Given the description of an element on the screen output the (x, y) to click on. 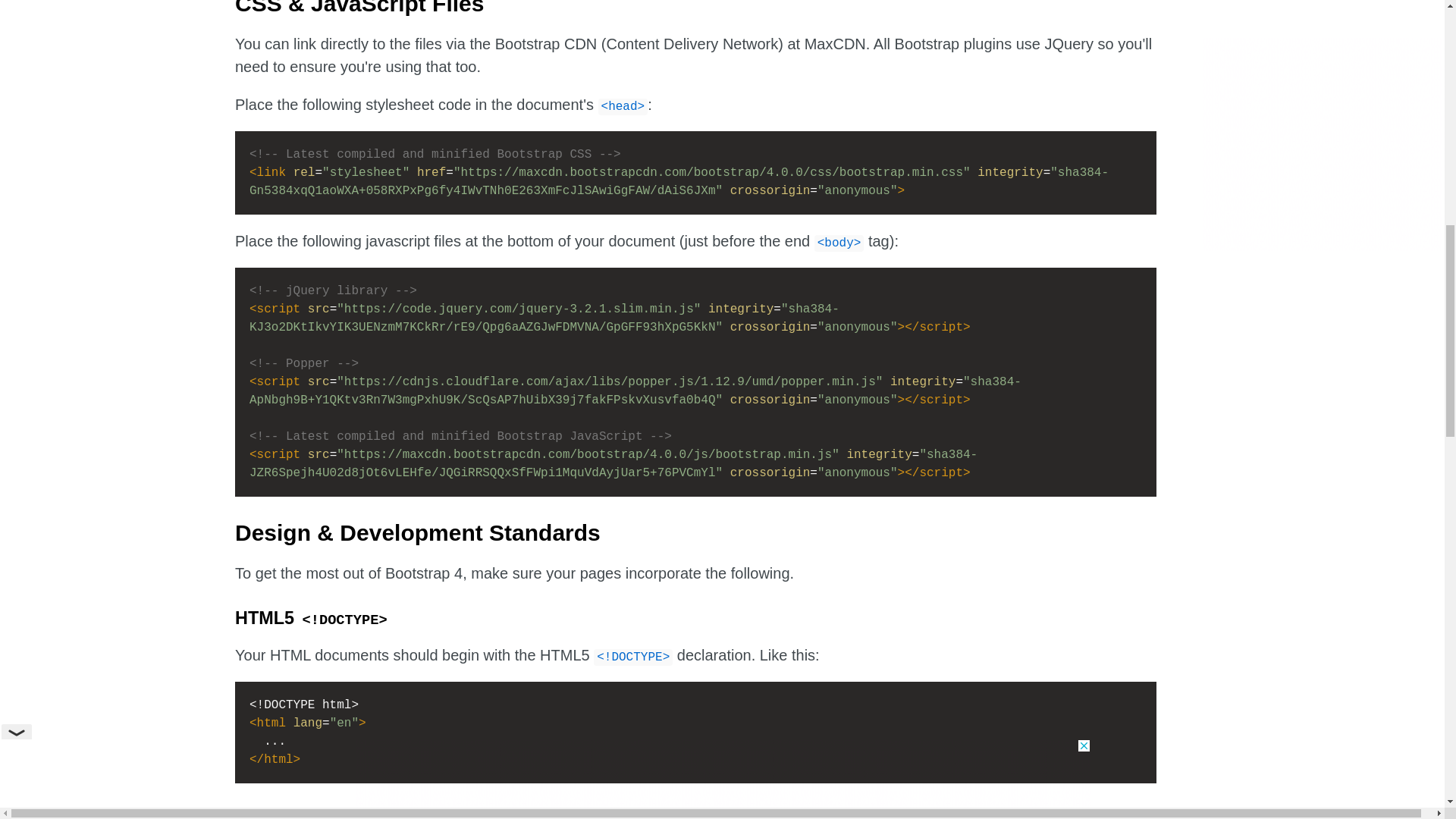
head (622, 104)
!DOCTYPE (344, 618)
!DOCTYPE (633, 655)
